Given the description of an element on the screen output the (x, y) to click on. 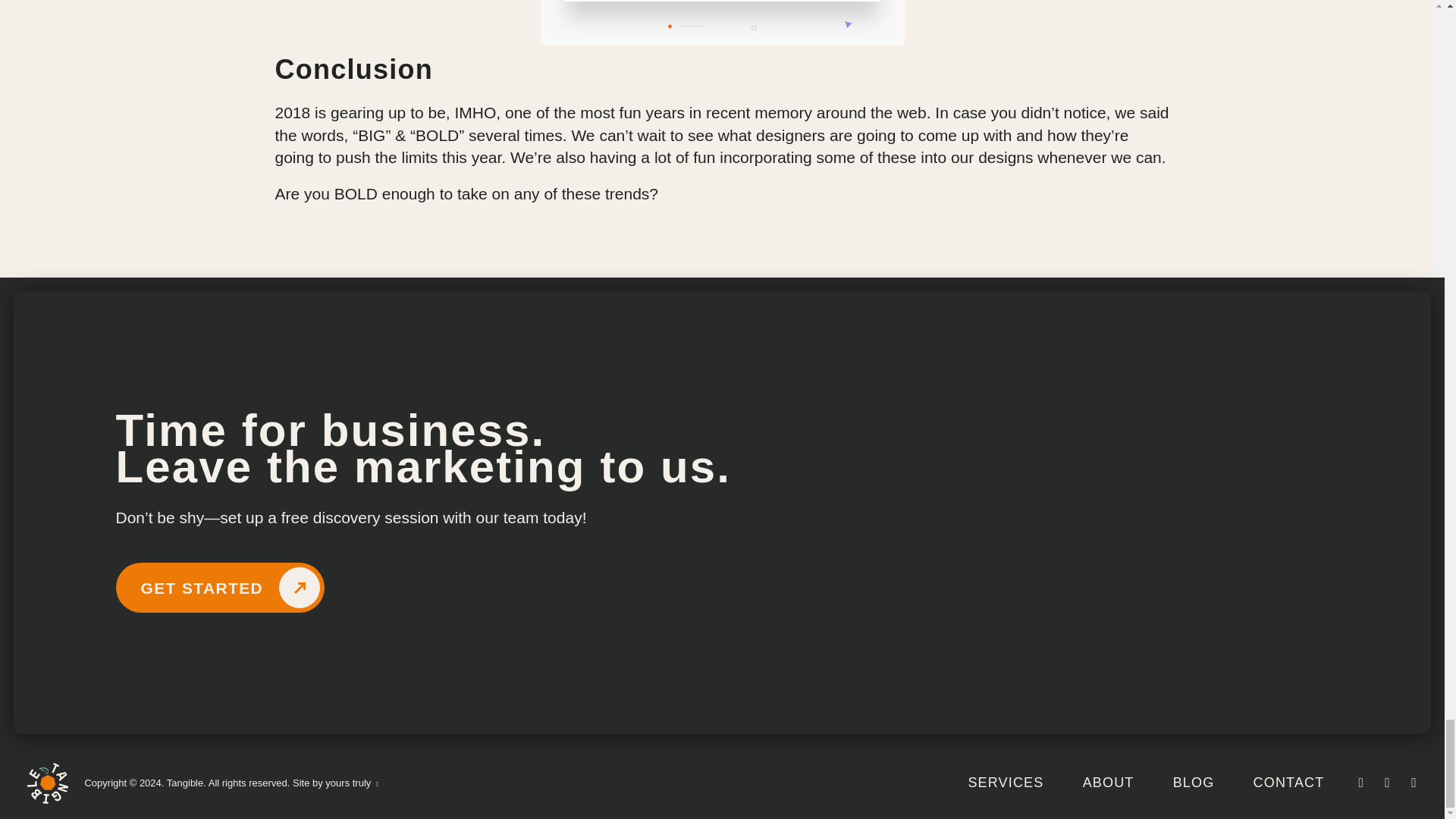
GET STARTED (219, 587)
CONTACT (1288, 782)
ABOUT (1108, 782)
BLOG (1193, 782)
SERVICES (1005, 782)
